Given the description of an element on the screen output the (x, y) to click on. 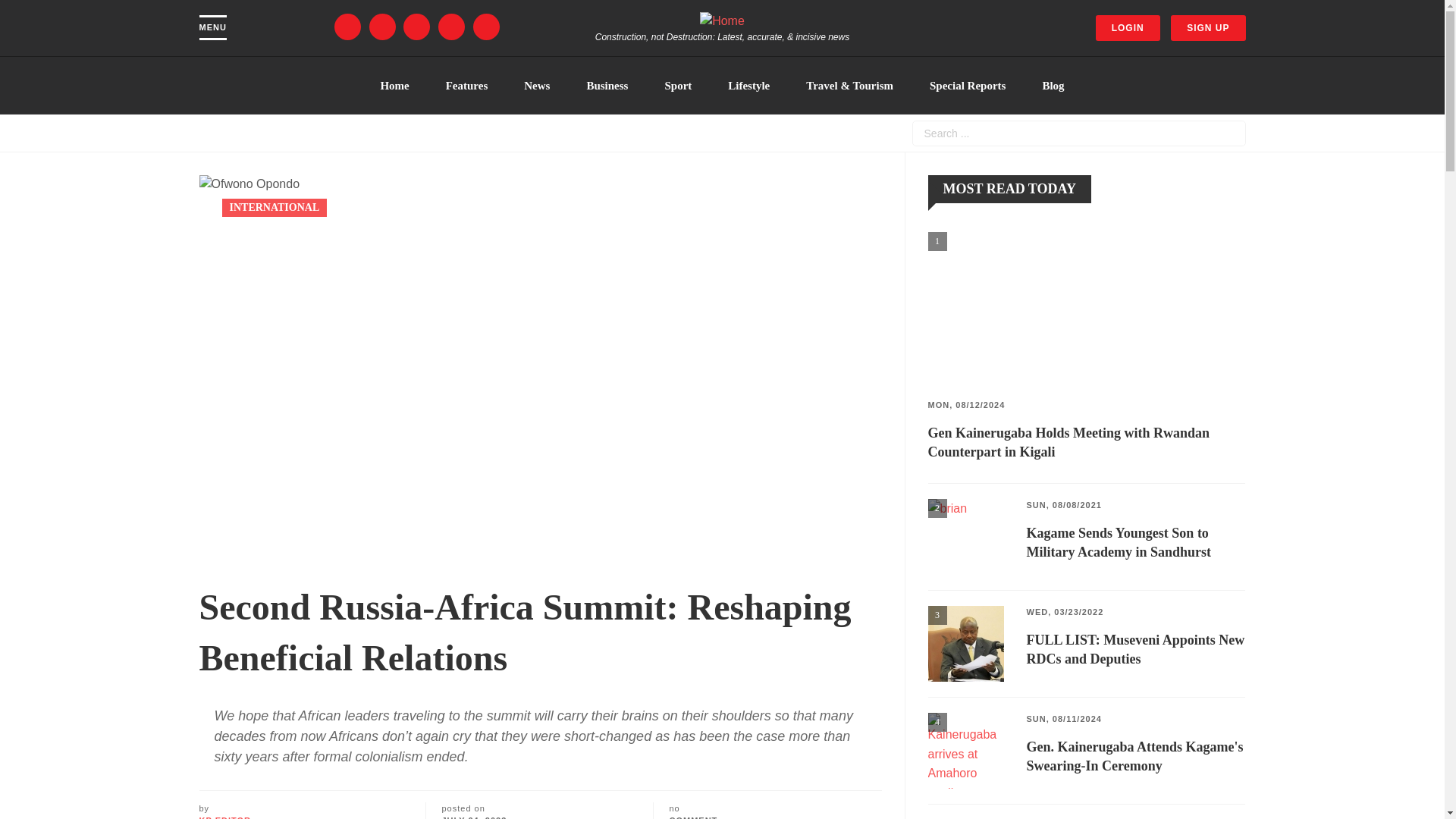
SIGN UP (1207, 27)
Home (393, 85)
LOGIN (1128, 27)
Home (722, 19)
MENU (211, 27)
Features (467, 85)
